Given the description of an element on the screen output the (x, y) to click on. 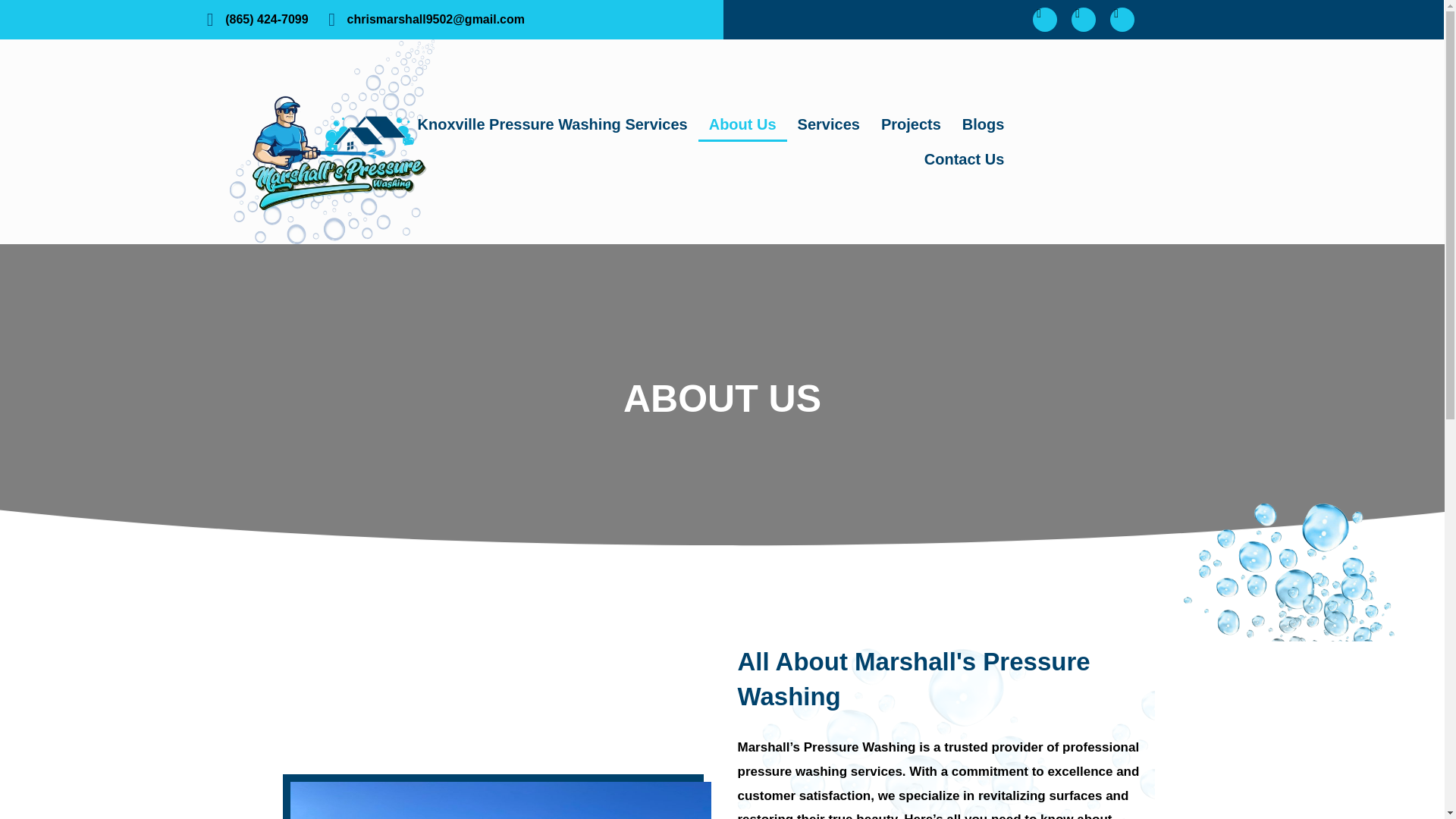
Linkedin (1121, 19)
Projects (911, 124)
About Us (742, 124)
Blogs (983, 124)
Facebook (1044, 19)
Services (828, 124)
Knoxville Pressure Washing Services (552, 124)
Contact Us (964, 158)
Instagram (1083, 19)
